Given the description of an element on the screen output the (x, y) to click on. 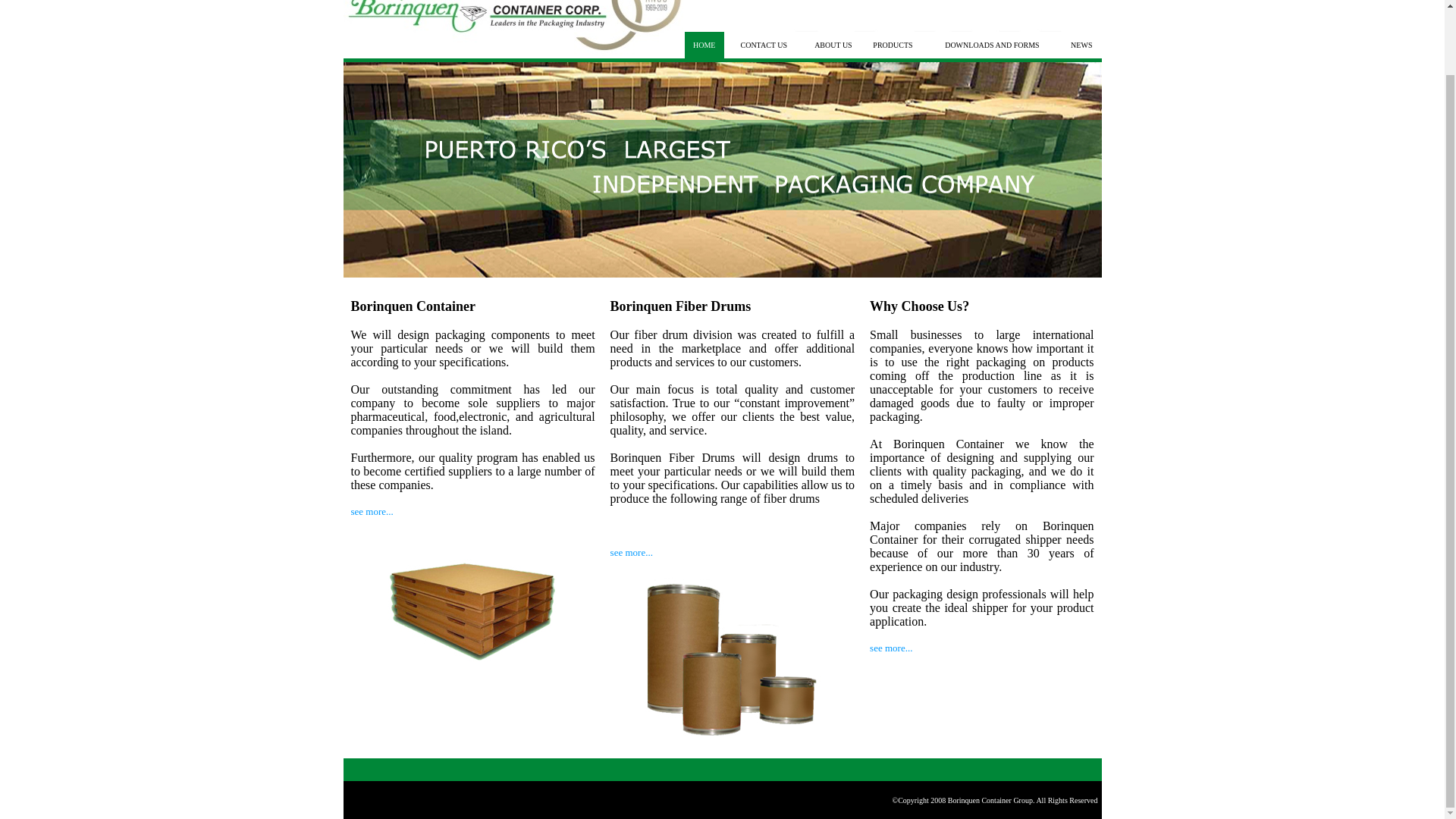
CONTACT US (763, 44)
Borinquen Fiber Drums (680, 305)
ABOUT US (832, 44)
see more... (631, 552)
Why Choose Us? (919, 305)
Borinquen Container (413, 305)
NEWS (1081, 44)
PRODUCTS (892, 44)
DOWNLOADS AND FORMS (991, 44)
see more... (890, 647)
